Given the description of an element on the screen output the (x, y) to click on. 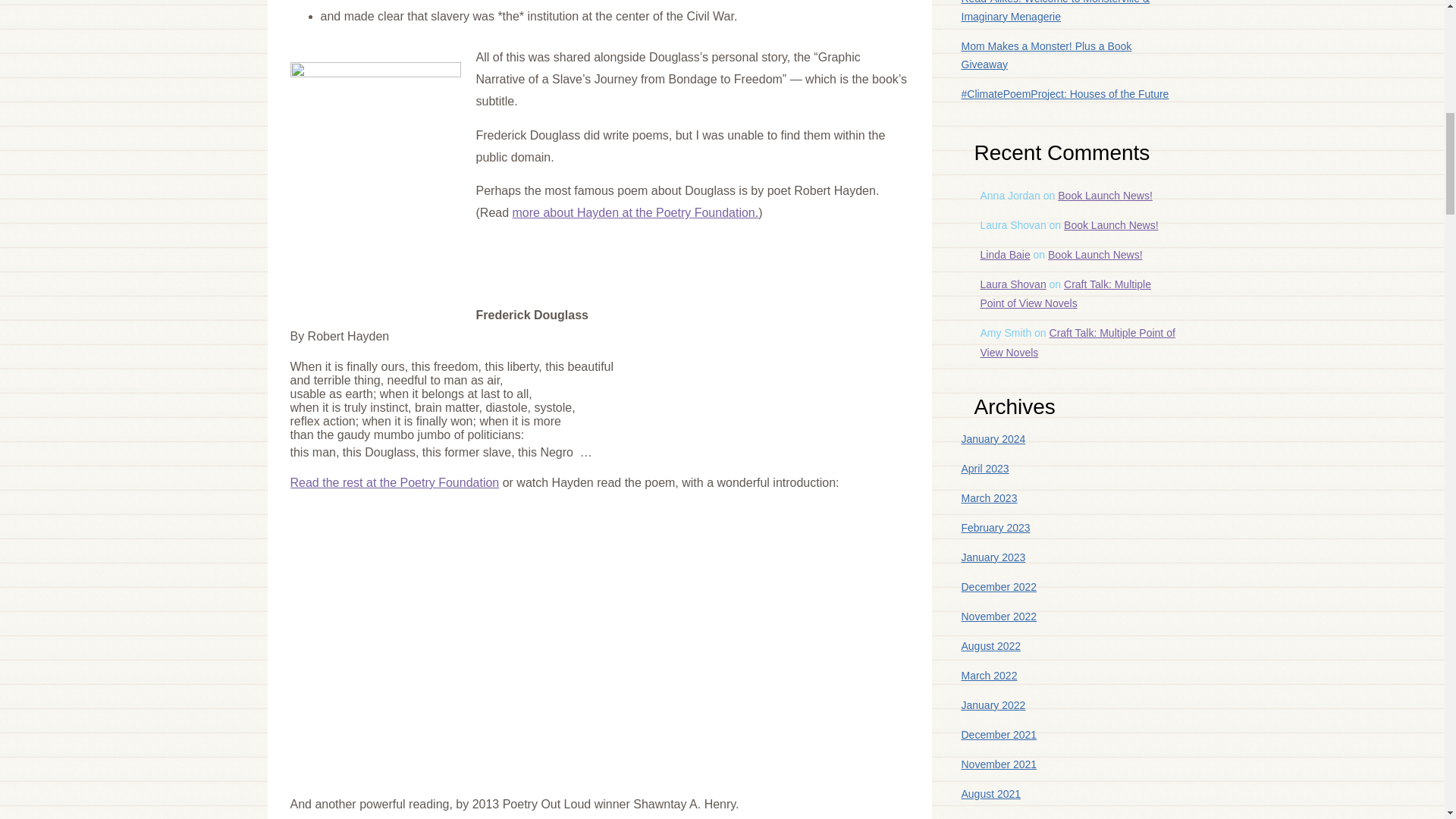
more about Hayden at the Poetry Foundation. (635, 212)
Robert Hayden reads Frederick Douglass (478, 631)
Read the rest at the Poetry Foundation (394, 481)
